Given the description of an element on the screen output the (x, y) to click on. 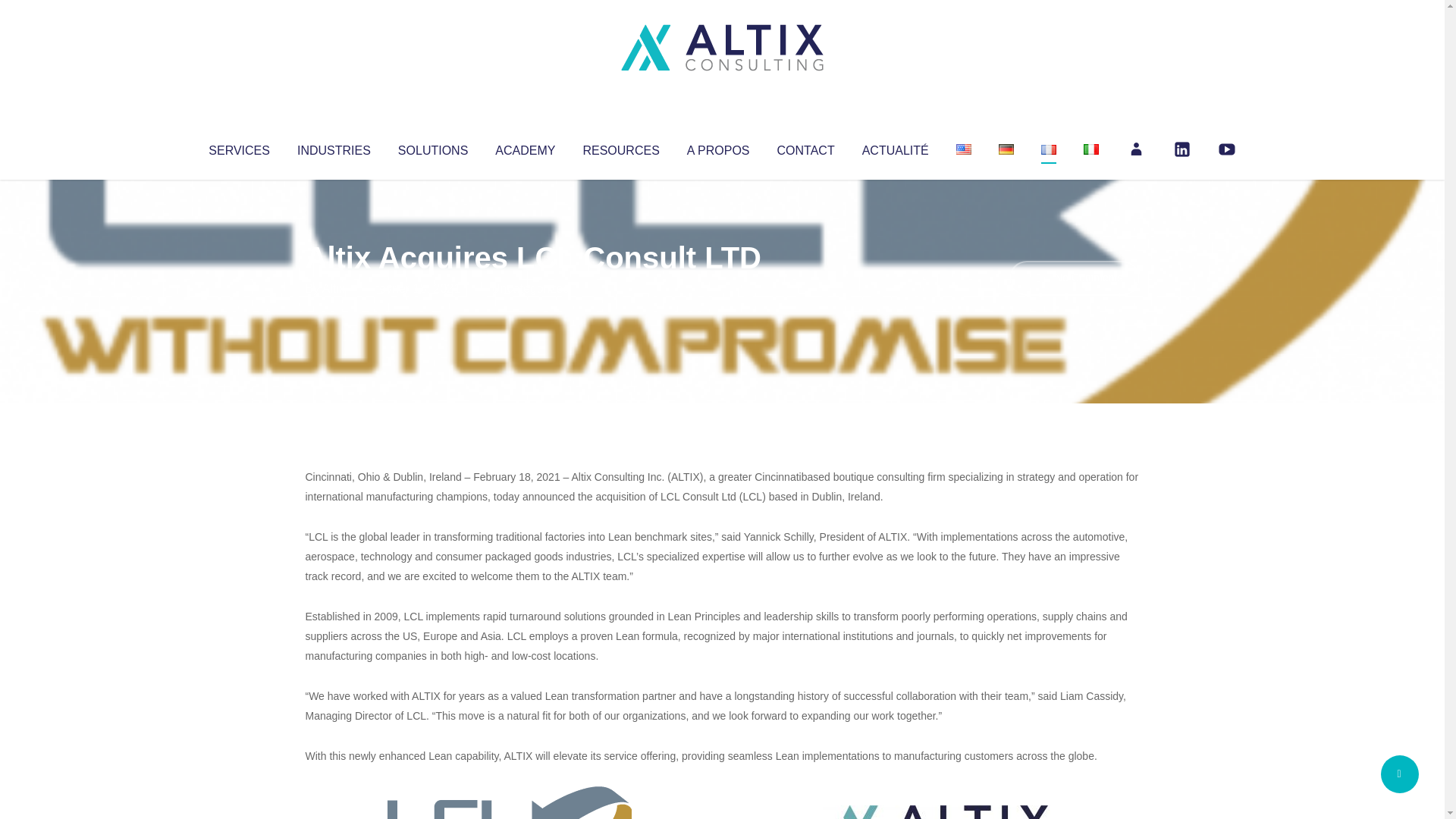
Articles par Altix (333, 287)
INDUSTRIES (334, 146)
Uncategorized (530, 287)
SERVICES (238, 146)
RESOURCES (620, 146)
A PROPOS (718, 146)
ACADEMY (524, 146)
Altix (333, 287)
SOLUTIONS (432, 146)
No Comments (1073, 278)
